Given the description of an element on the screen output the (x, y) to click on. 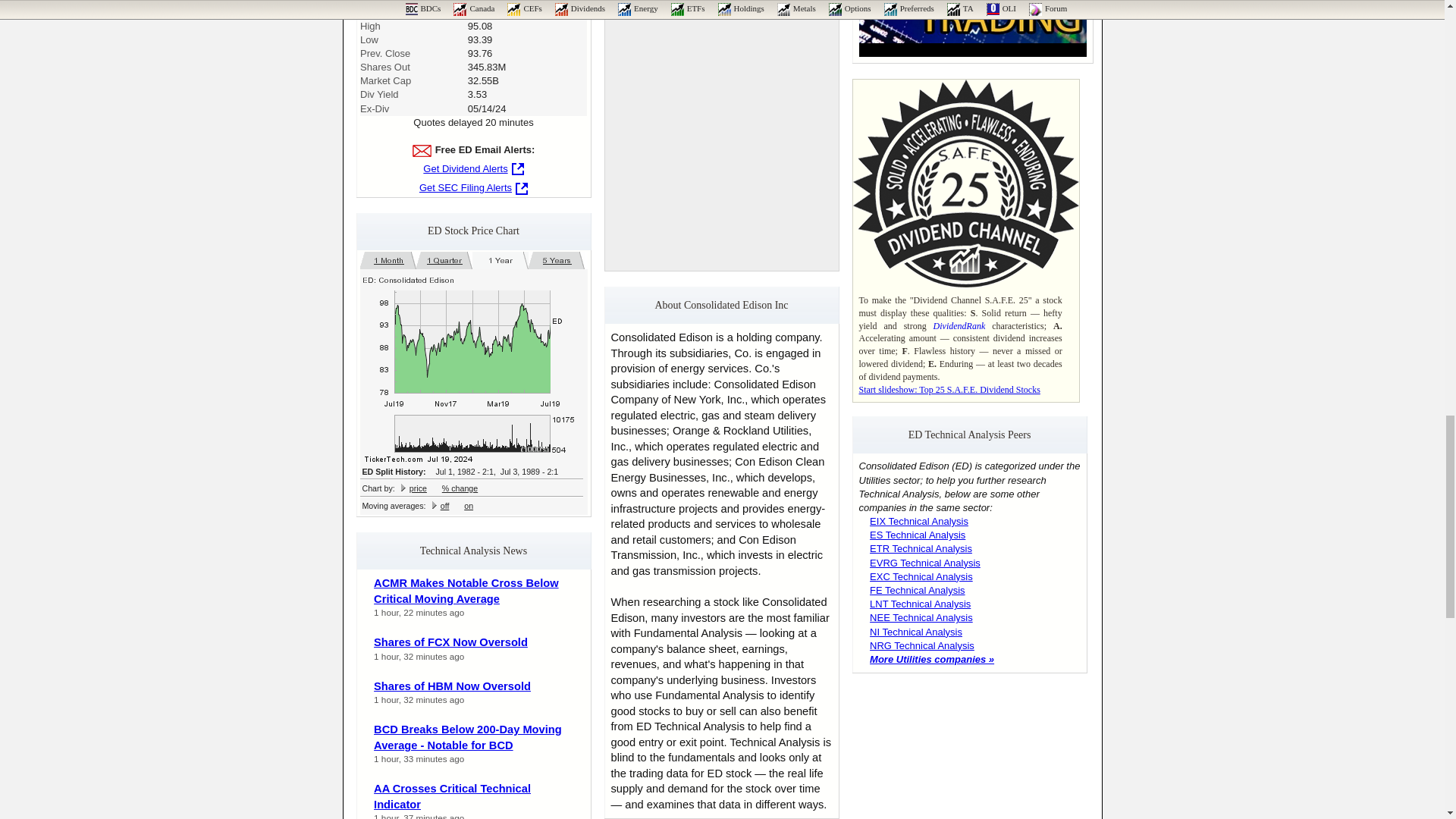
price (417, 488)
Shares of FCX Now Oversold (450, 642)
ACMR Makes Notable Cross Below Critical Moving Average (466, 591)
Shares of HBM Now Oversold (452, 686)
Get Dividend Alerts (472, 168)
on (468, 505)
AA Crosses Critical Technical Indicator (452, 796)
Get SEC Filing Alerts (473, 187)
off (445, 505)
BCD Breaks Below 200-Day Moving Average - Notable for BCD (468, 737)
